Given the description of an element on the screen output the (x, y) to click on. 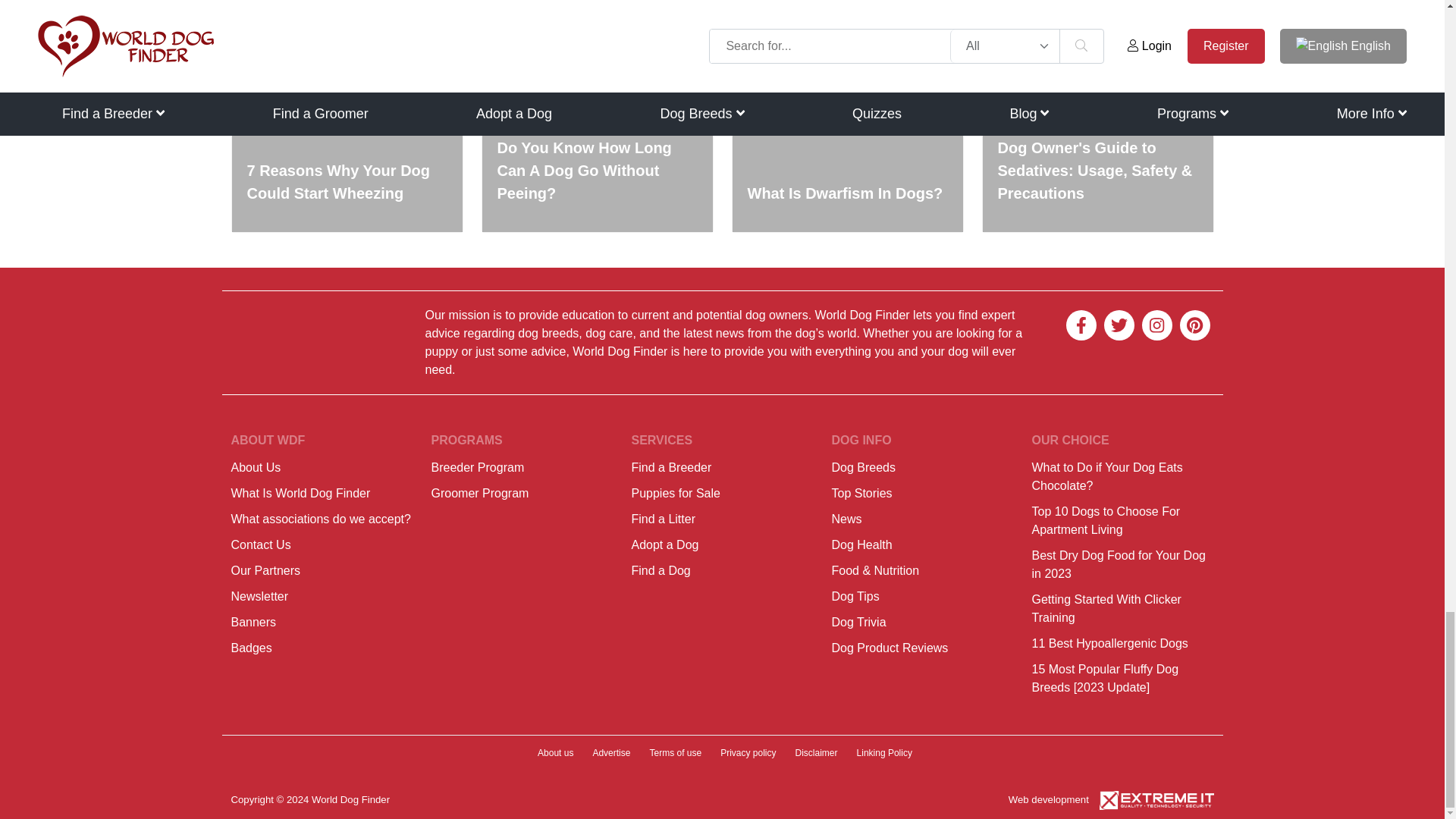
Tweet (365, 13)
Share on pinterest (410, 13)
Share on Facebook (319, 13)
Share (456, 13)
